Given the description of an element on the screen output the (x, y) to click on. 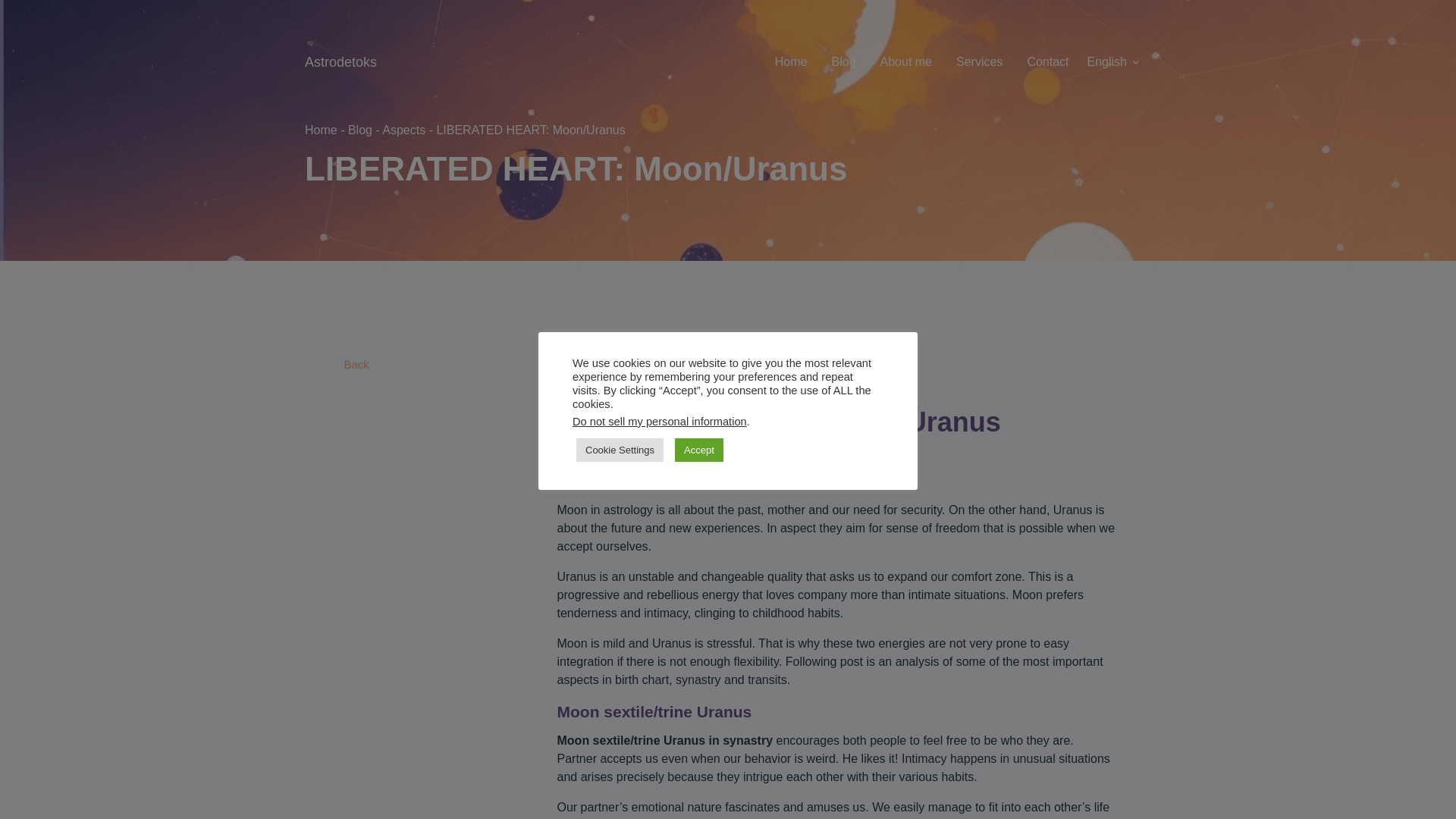
About me (905, 61)
Blog (359, 129)
English (1114, 61)
Back (354, 364)
Aspects (403, 129)
Home (791, 61)
Cookie Settings (619, 449)
Services (979, 61)
Do not sell my personal information (659, 421)
Accept (699, 449)
